Given the description of an element on the screen output the (x, y) to click on. 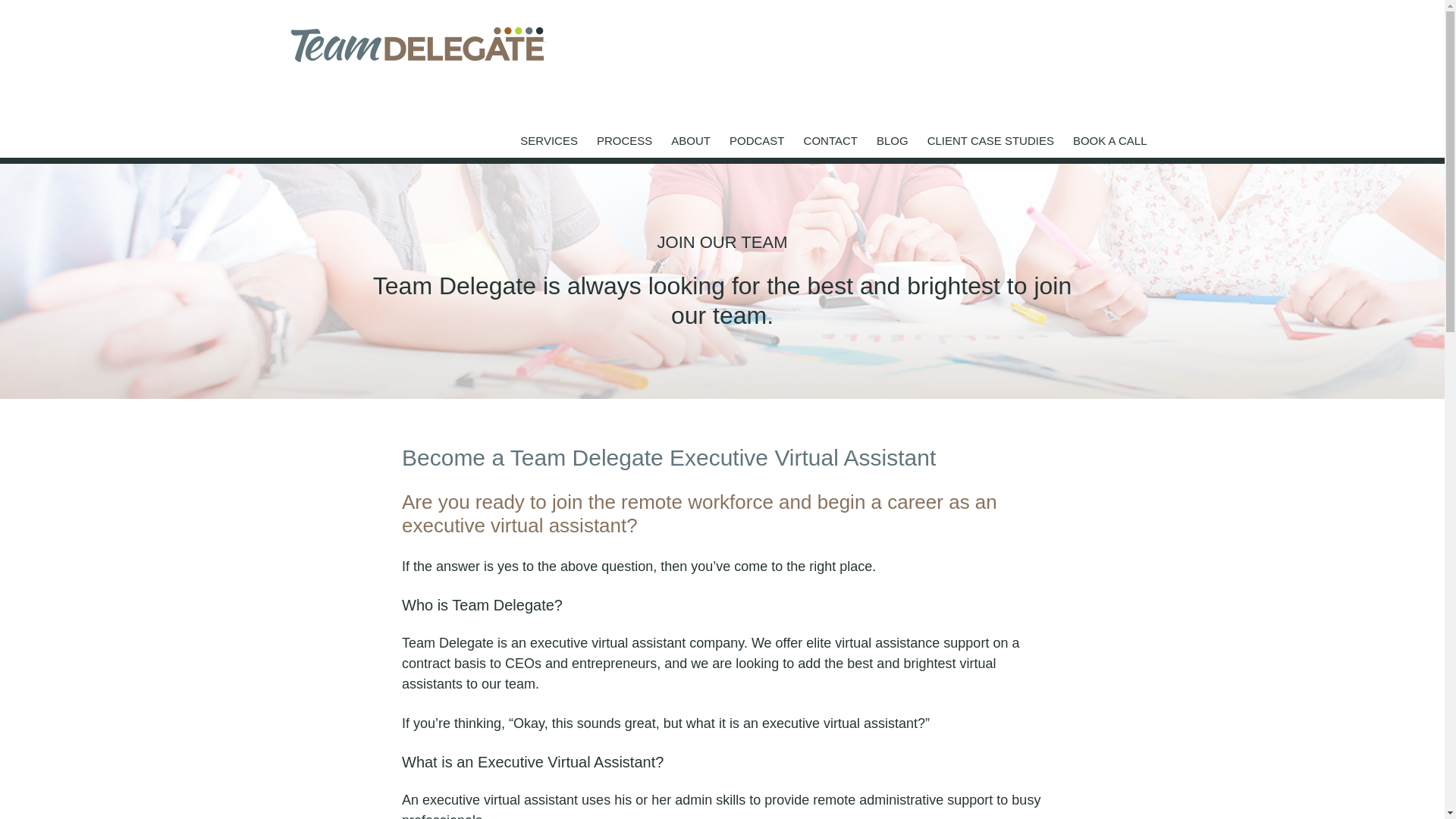
CLIENT CASE STUDIES (990, 138)
SERVICES (548, 138)
ABOUT (690, 138)
BOOK A CALL (1110, 138)
PODCAST (756, 138)
CONTACT (830, 138)
PROCESS (624, 138)
Team Delegate (416, 44)
